Given the description of an element on the screen output the (x, y) to click on. 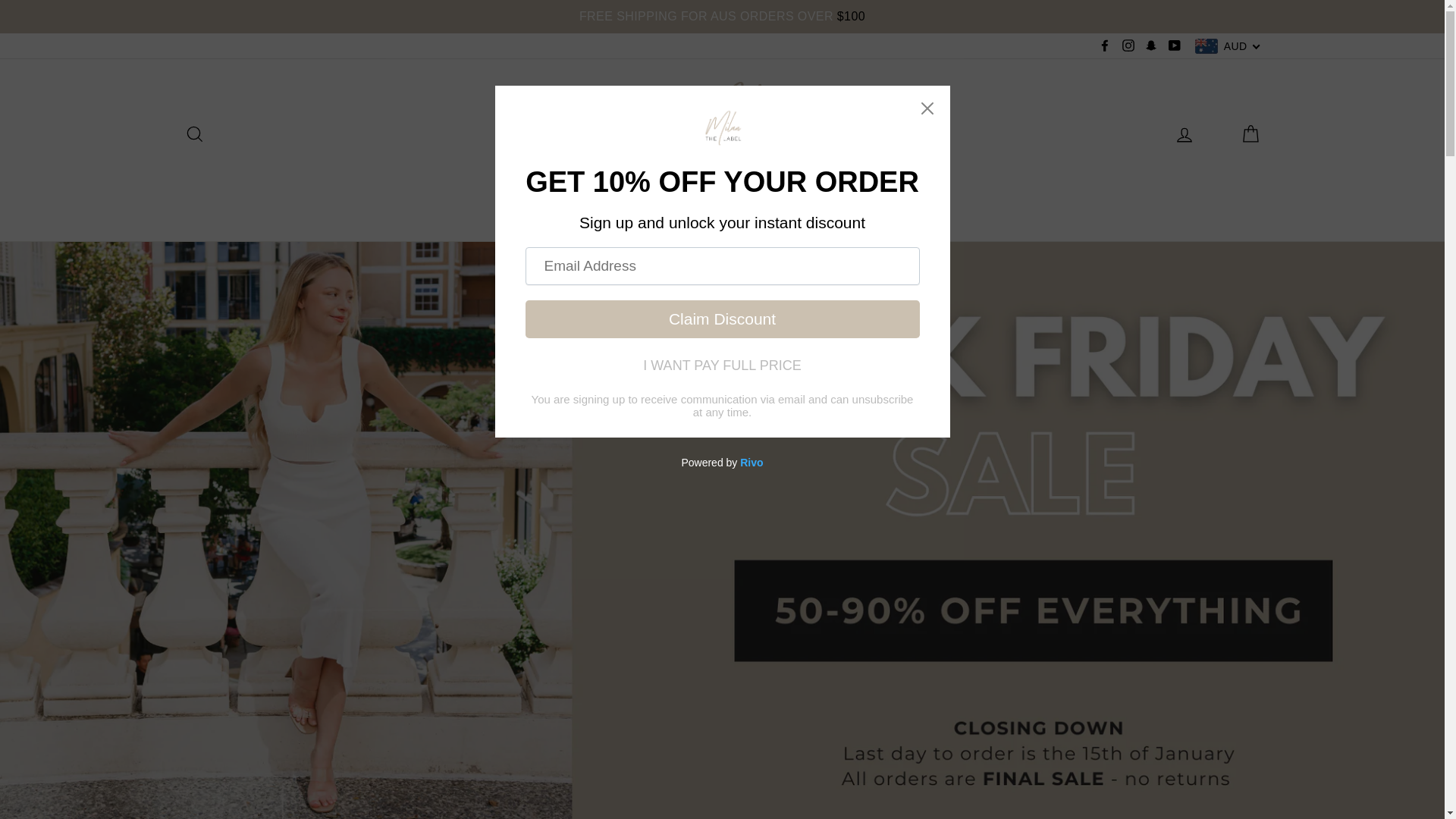
Cart Element type: text (1249, 133)
NEW Element type: text (544, 208)
Skip to content Element type: text (0, 0)
SHOP Element type: text (607, 208)
DENIM Element type: text (675, 208)
YouTube Element type: text (1174, 45)
Snapchat Element type: text (1151, 45)
FREE SHIPPING FOR AUS ORDERS OVER $100 Element type: text (722, 16)
SALE Element type: text (741, 208)
Search Element type: text (193, 133)
Facebook Element type: text (1104, 45)
CUSTOMER SERVICE Element type: text (850, 208)
Instagram Element type: text (1128, 45)
Log in Element type: text (1184, 133)
